Given the description of an element on the screen output the (x, y) to click on. 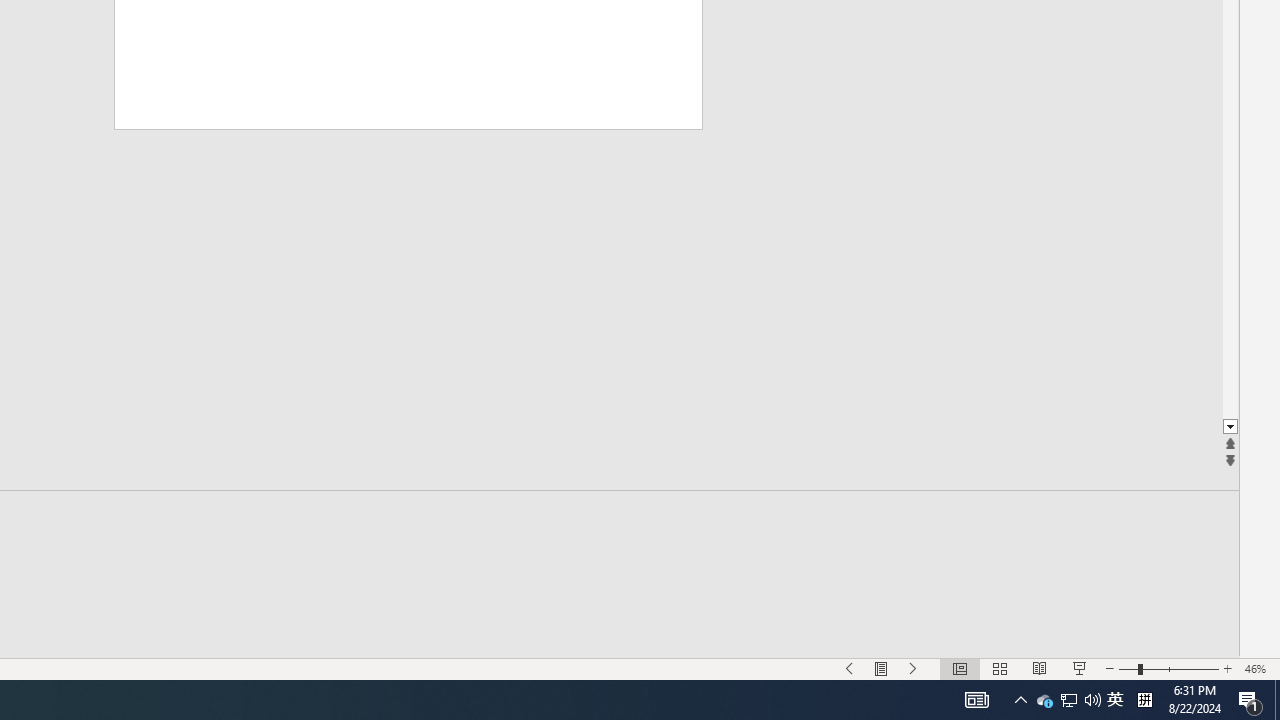
Slide Show Previous On (850, 668)
Zoom 46% (1258, 668)
Slide Show Next On (914, 668)
